Given the description of an element on the screen output the (x, y) to click on. 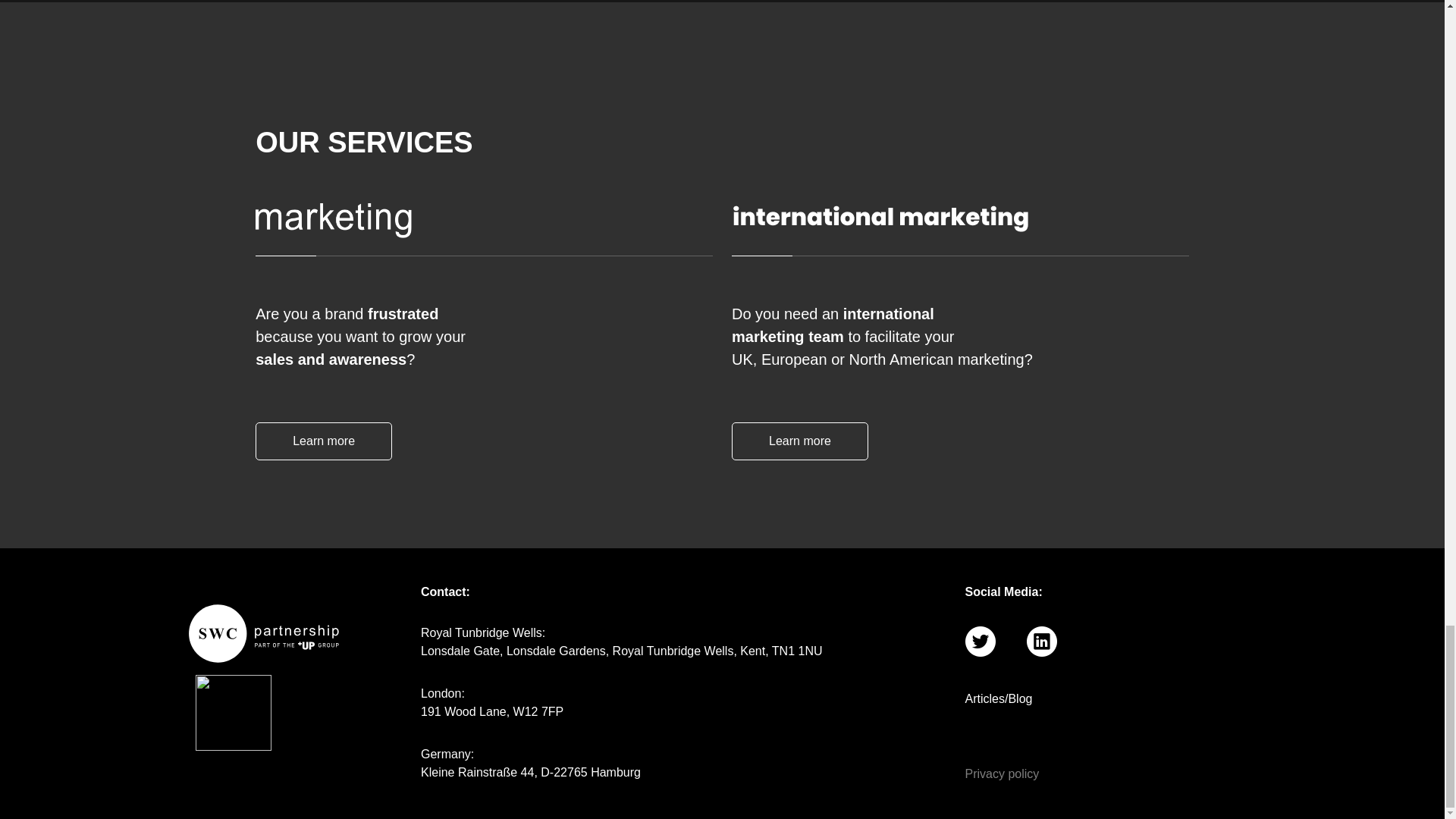
Learn more (323, 441)
191 Wood Lane, W12 7FP (491, 711)
Learn more (799, 441)
Privacy policy (1071, 774)
